Given the description of an element on the screen output the (x, y) to click on. 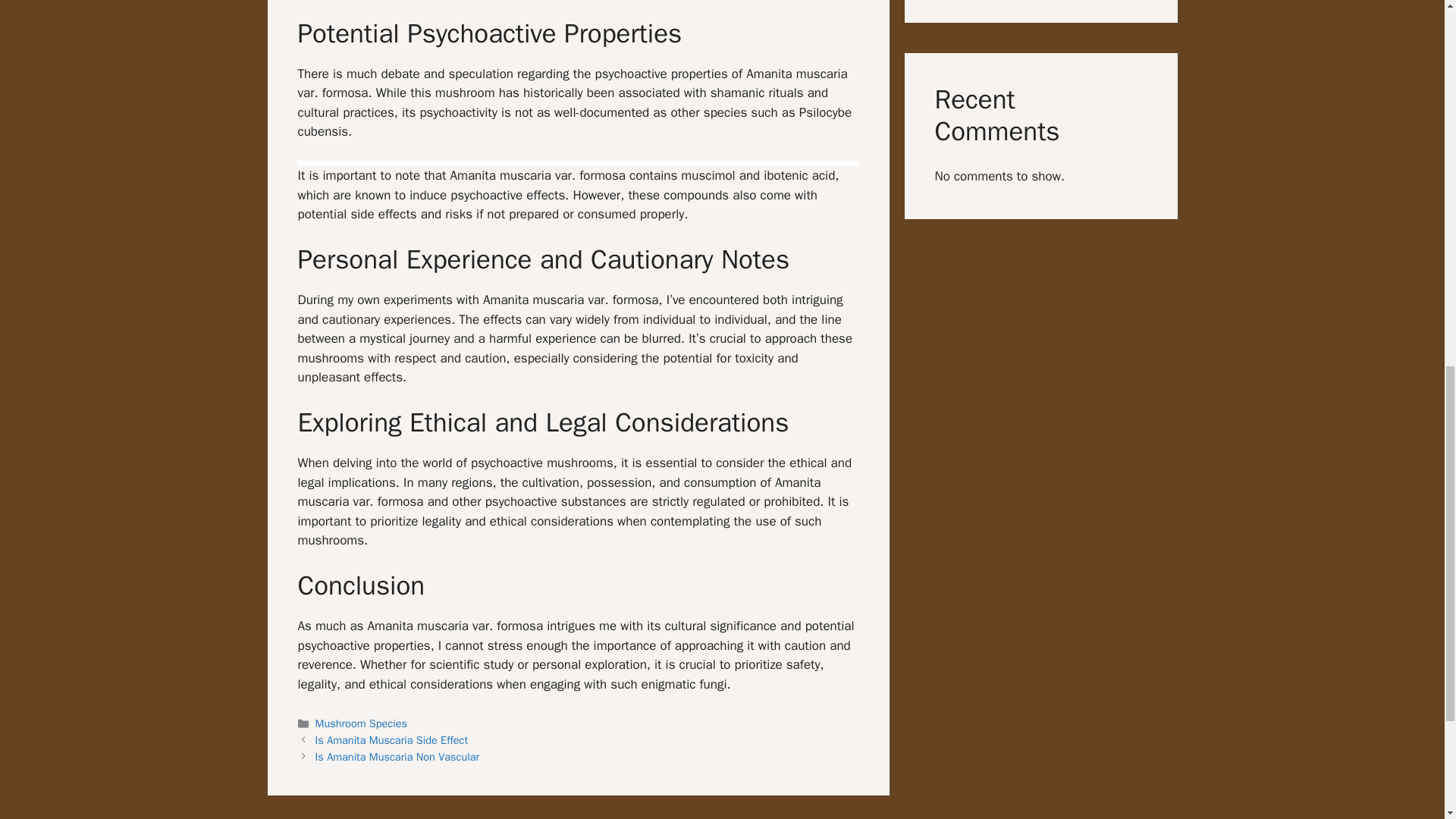
Mushroom Species (361, 723)
Is Amanita Muscaria Non Vascular (397, 756)
Is Amanita Muscaria Side Effect (391, 739)
